Given the description of an element on the screen output the (x, y) to click on. 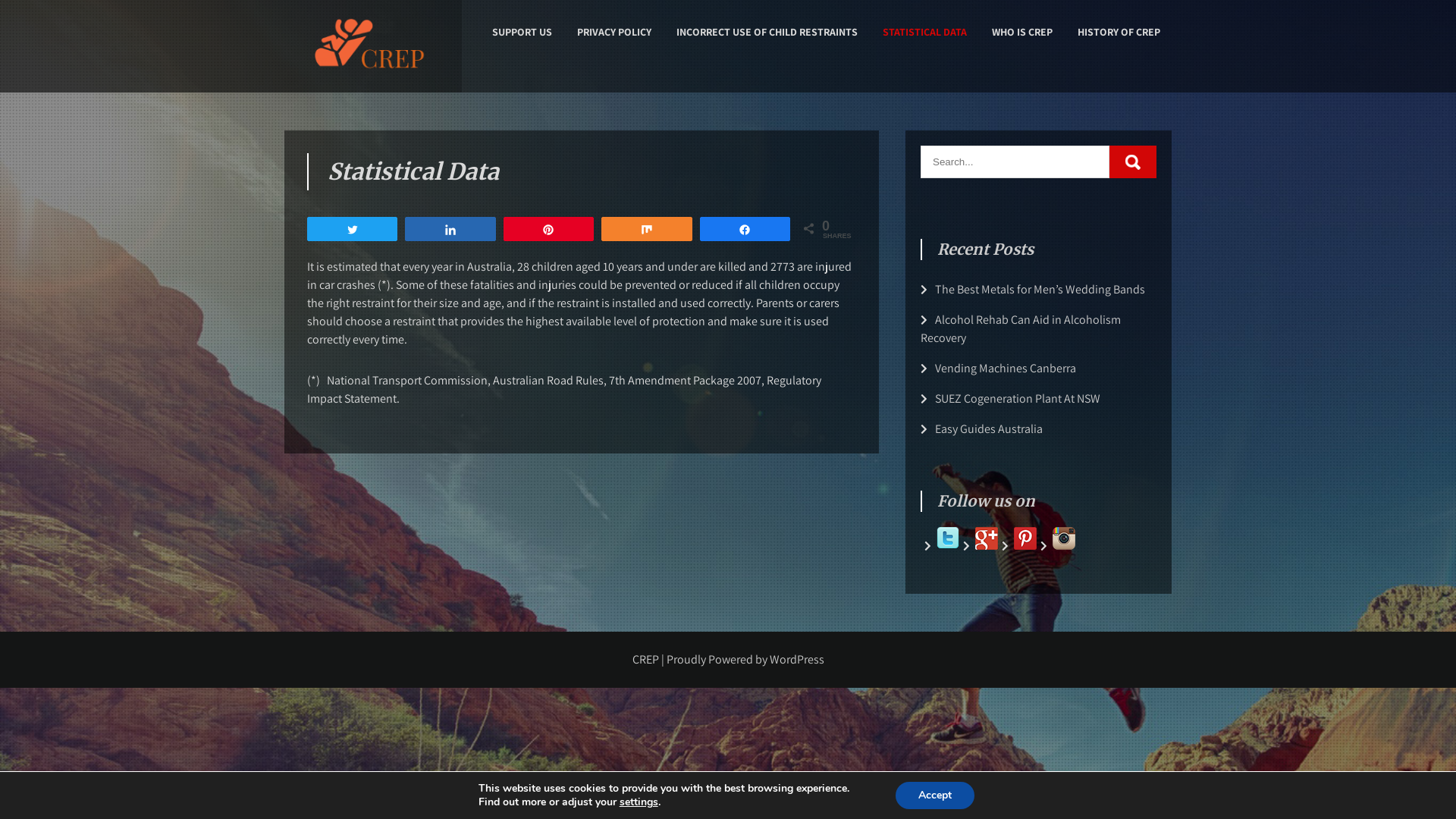
Easy Guides Australia Element type: text (988, 428)
INCORRECT USE OF CHILD RESTRAINTS Element type: text (767, 31)
SUPPORT US Element type: text (521, 31)
STATISTICAL DATA Element type: text (924, 31)
Accept Element type: text (934, 795)
PRIVACY POLICY Element type: text (613, 31)
Alcohol Rehab Can Aid in Alcoholism Recovery Element type: text (1020, 328)
Search Element type: text (1132, 161)
Vending Machines Canberra Element type: text (1005, 368)
HISTORY OF CREP Element type: text (1118, 31)
SUEZ Cogeneration Plant At NSW Element type: text (1017, 398)
WHO IS CREP Element type: text (1021, 31)
CREP Element type: text (308, 85)
